Given the description of an element on the screen output the (x, y) to click on. 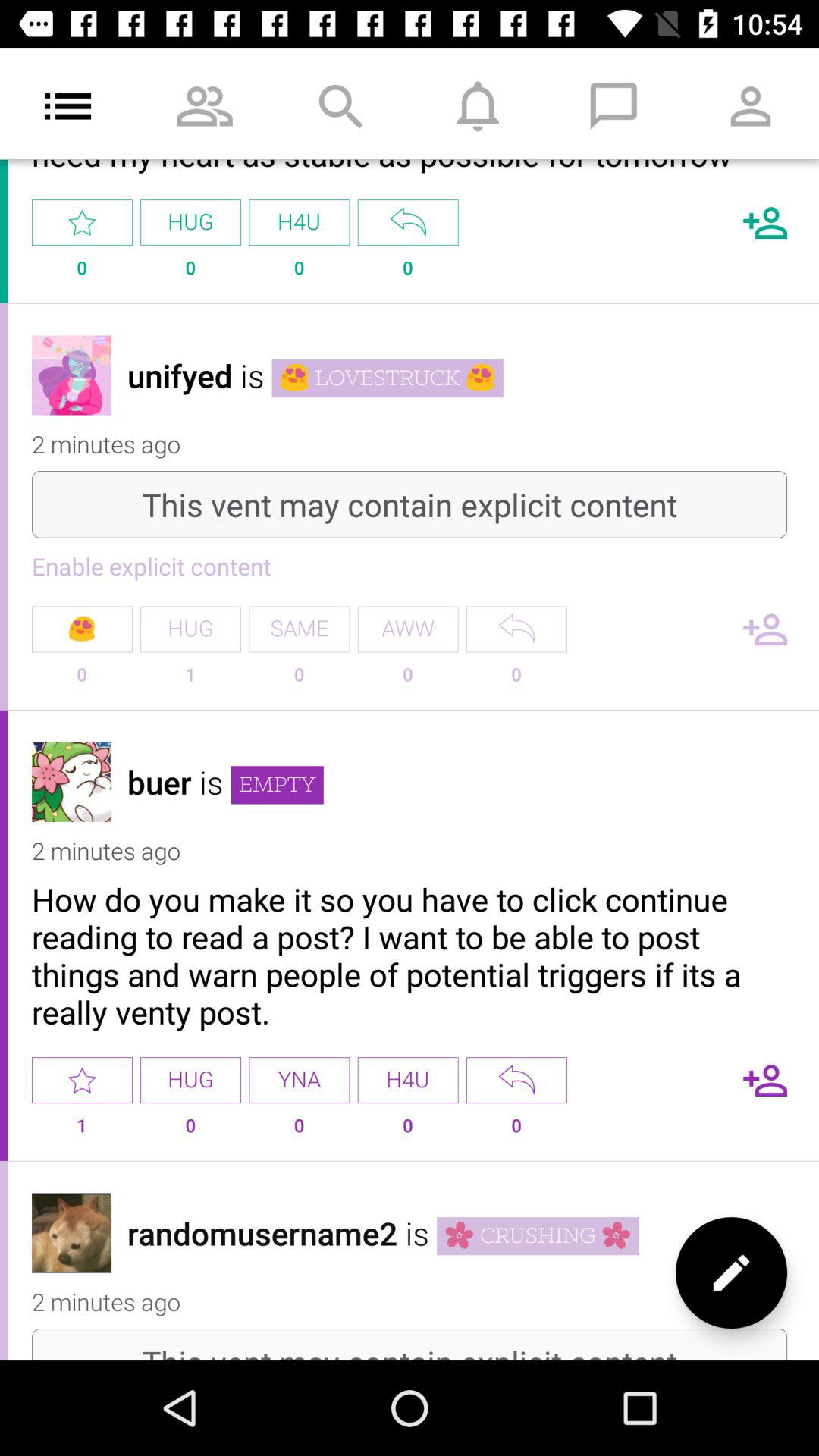
press the icon below please let s item (407, 222)
